Given the description of an element on the screen output the (x, y) to click on. 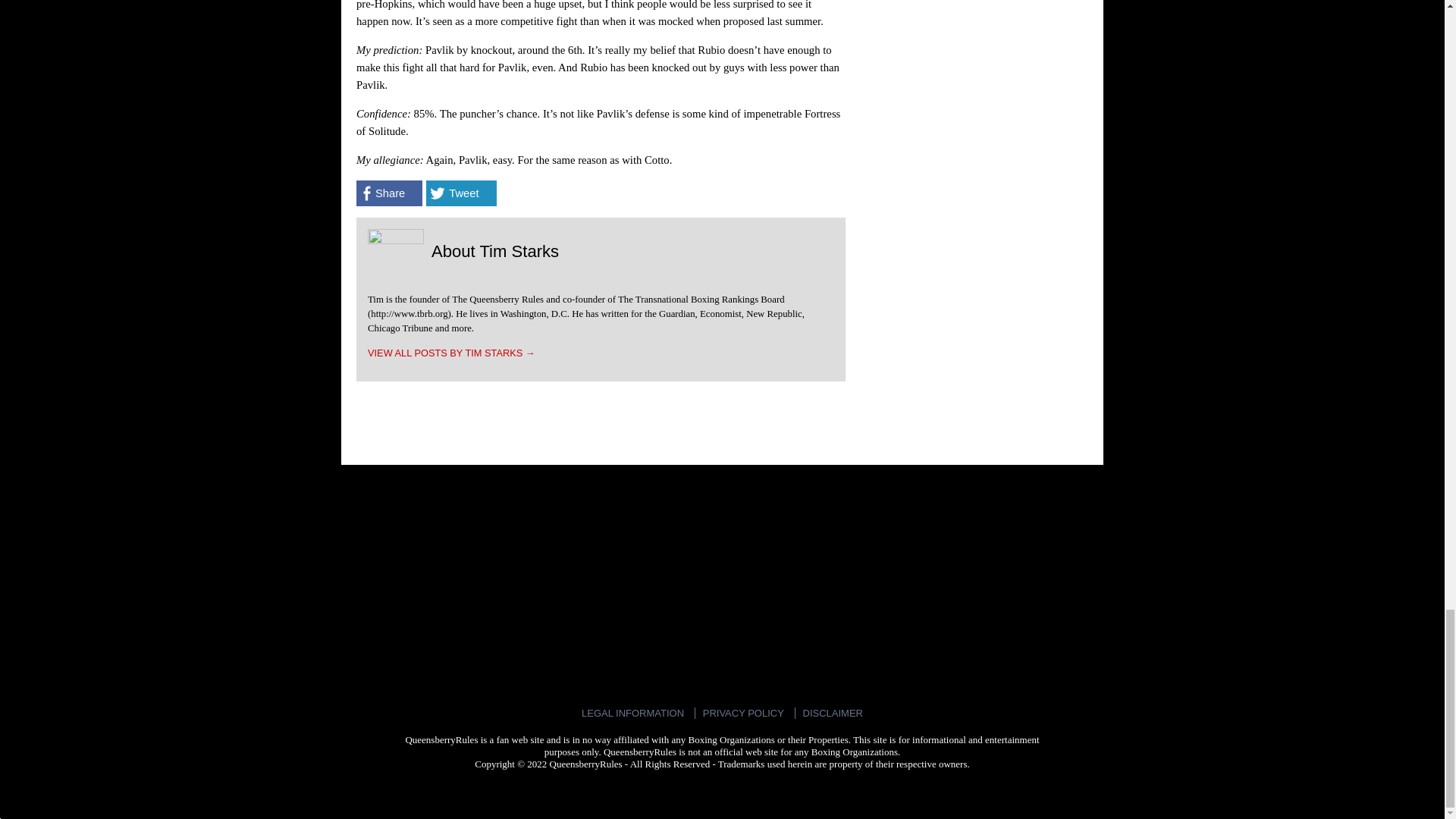
Share (389, 193)
Tweet (461, 193)
LEGAL INFORMATION (632, 713)
DISCLAIMER (833, 713)
PRIVACY POLICY (743, 713)
